Given the description of an element on the screen output the (x, y) to click on. 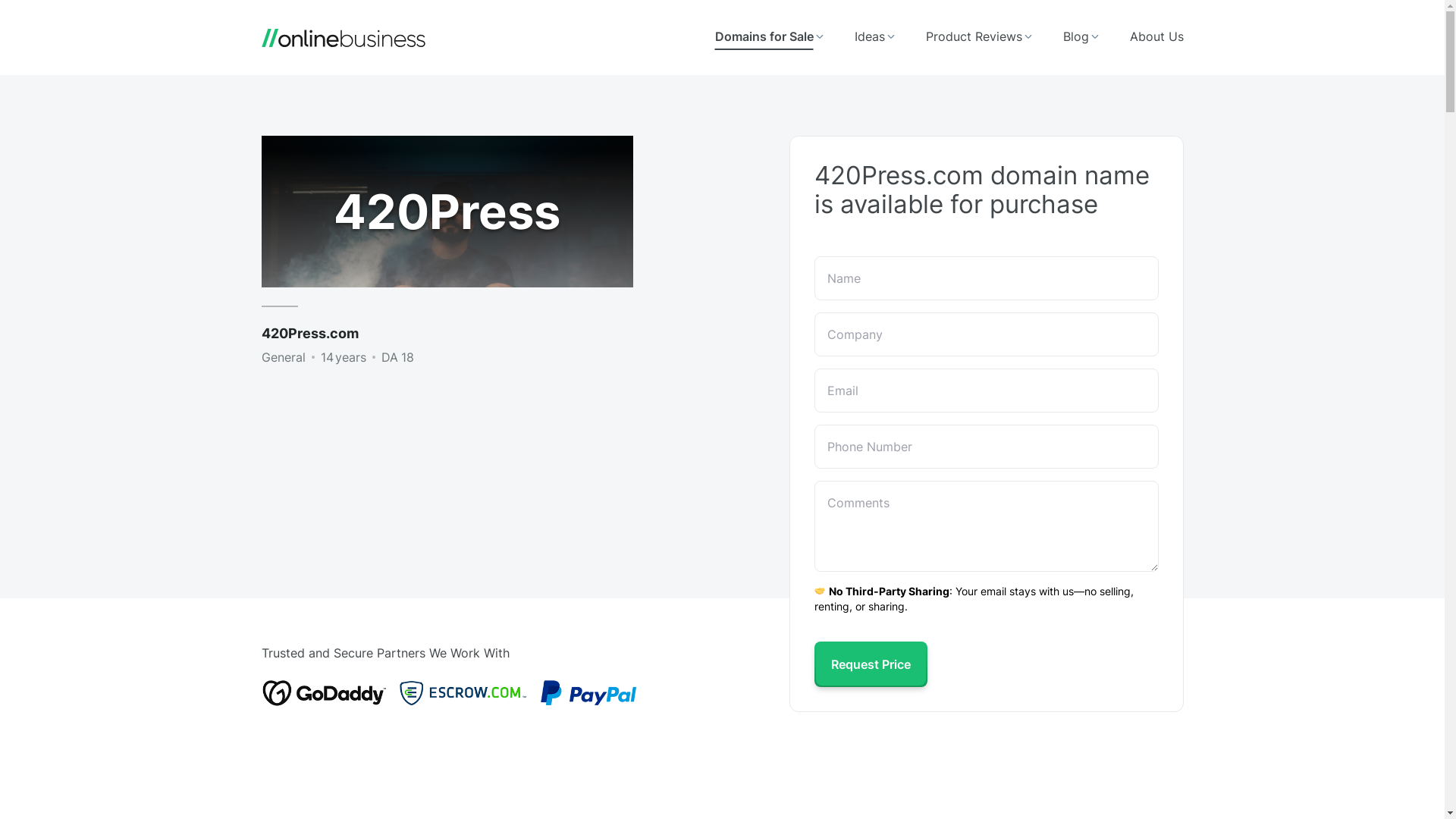
Blog Element type: text (1081, 37)
Request Price Element type: text (870, 664)
Ideas Element type: text (873, 37)
Domains for Sale Element type: text (768, 37)
Product Reviews Element type: text (978, 37)
About Us Element type: text (1156, 37)
General Element type: text (282, 357)
